Given the description of an element on the screen output the (x, y) to click on. 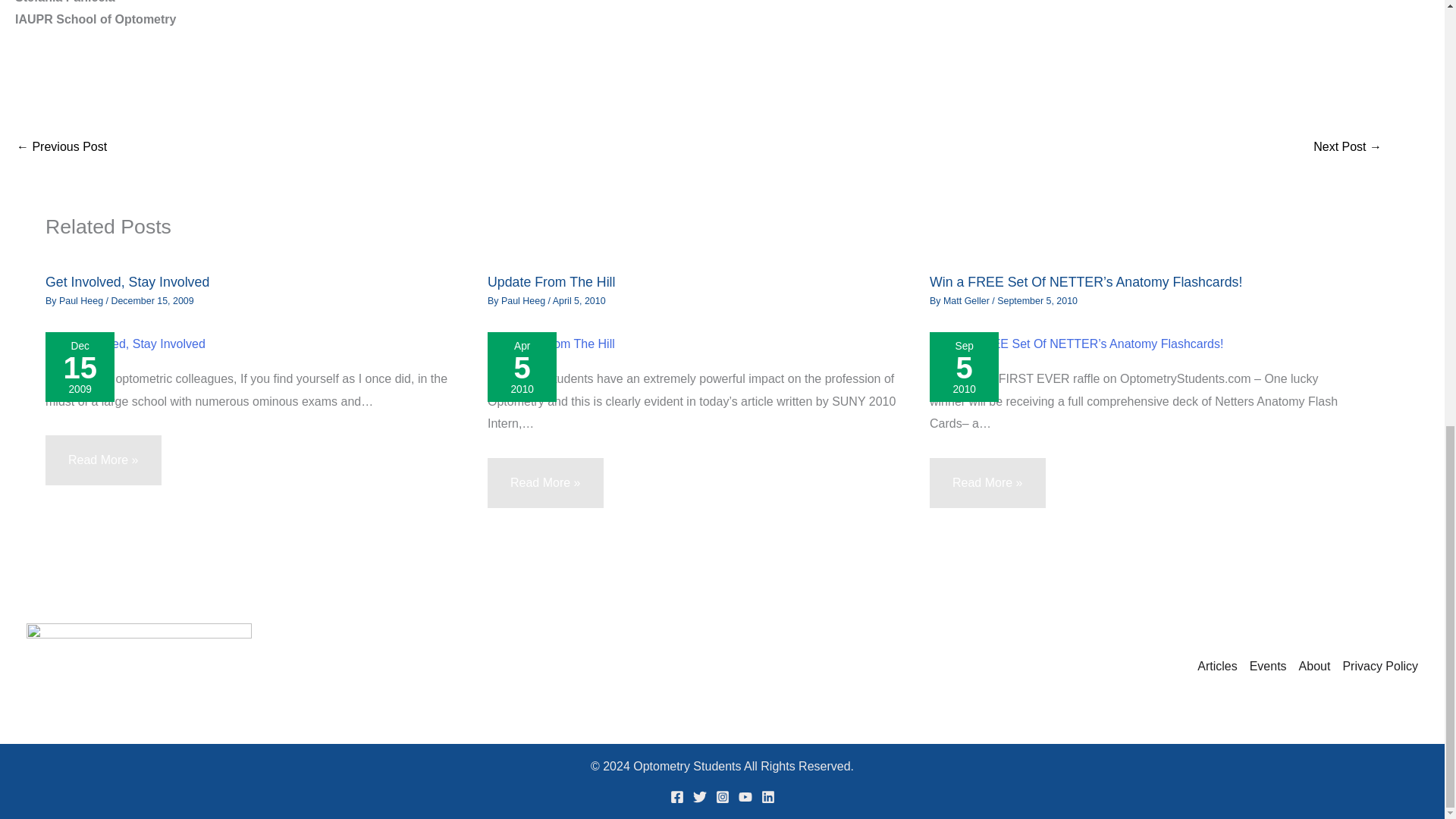
View all posts by Paul Heeg (524, 300)
View all posts by Paul Heeg (82, 300)
5 Study Tips for Part 1 NBEO (1347, 146)
View all posts by Matt Geller (967, 300)
